Given the description of an element on the screen output the (x, y) to click on. 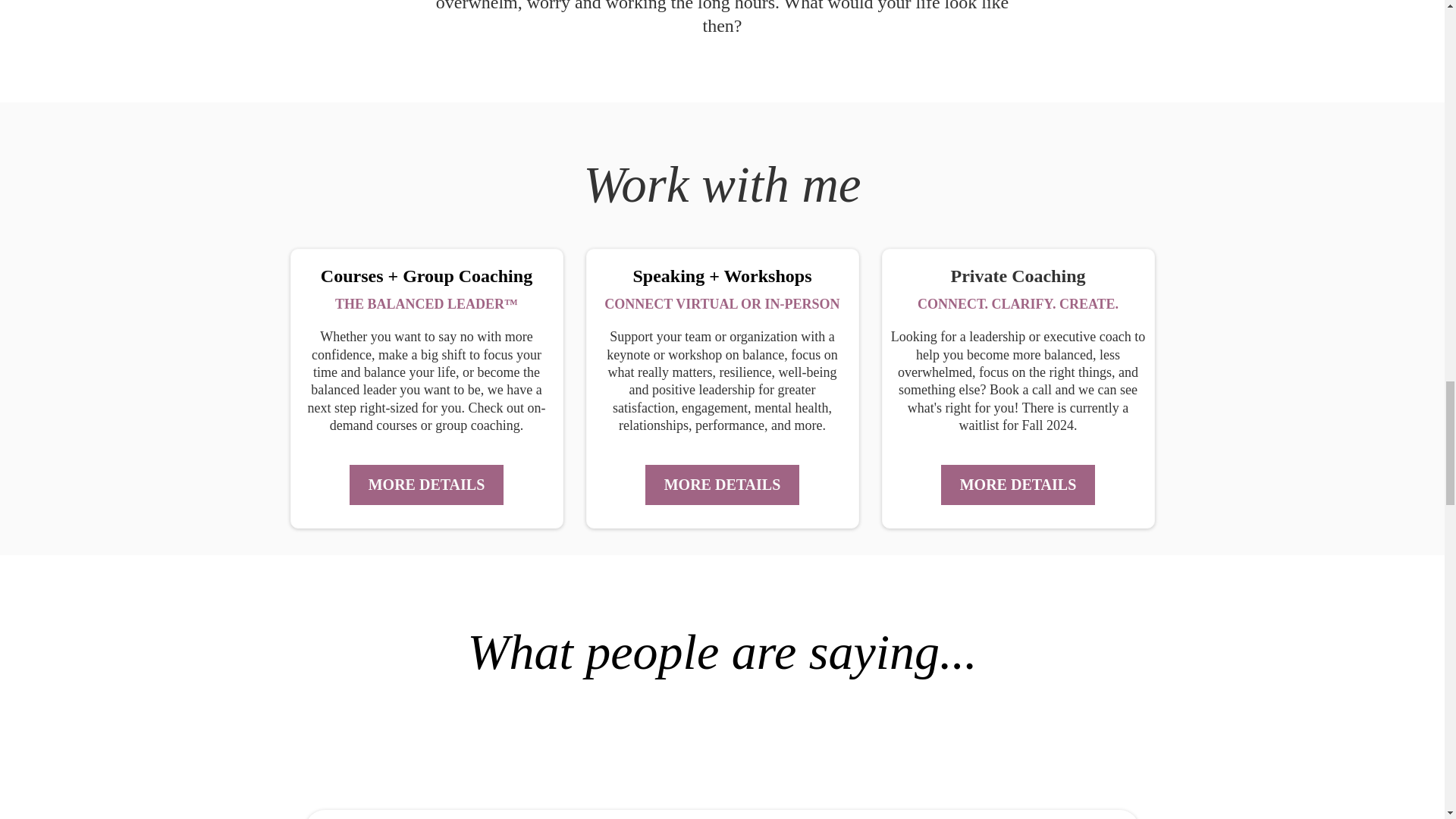
MORE DETAILS (1018, 485)
MORE DETAILS (426, 485)
MORE DETAILS (722, 485)
